Given the description of an element on the screen output the (x, y) to click on. 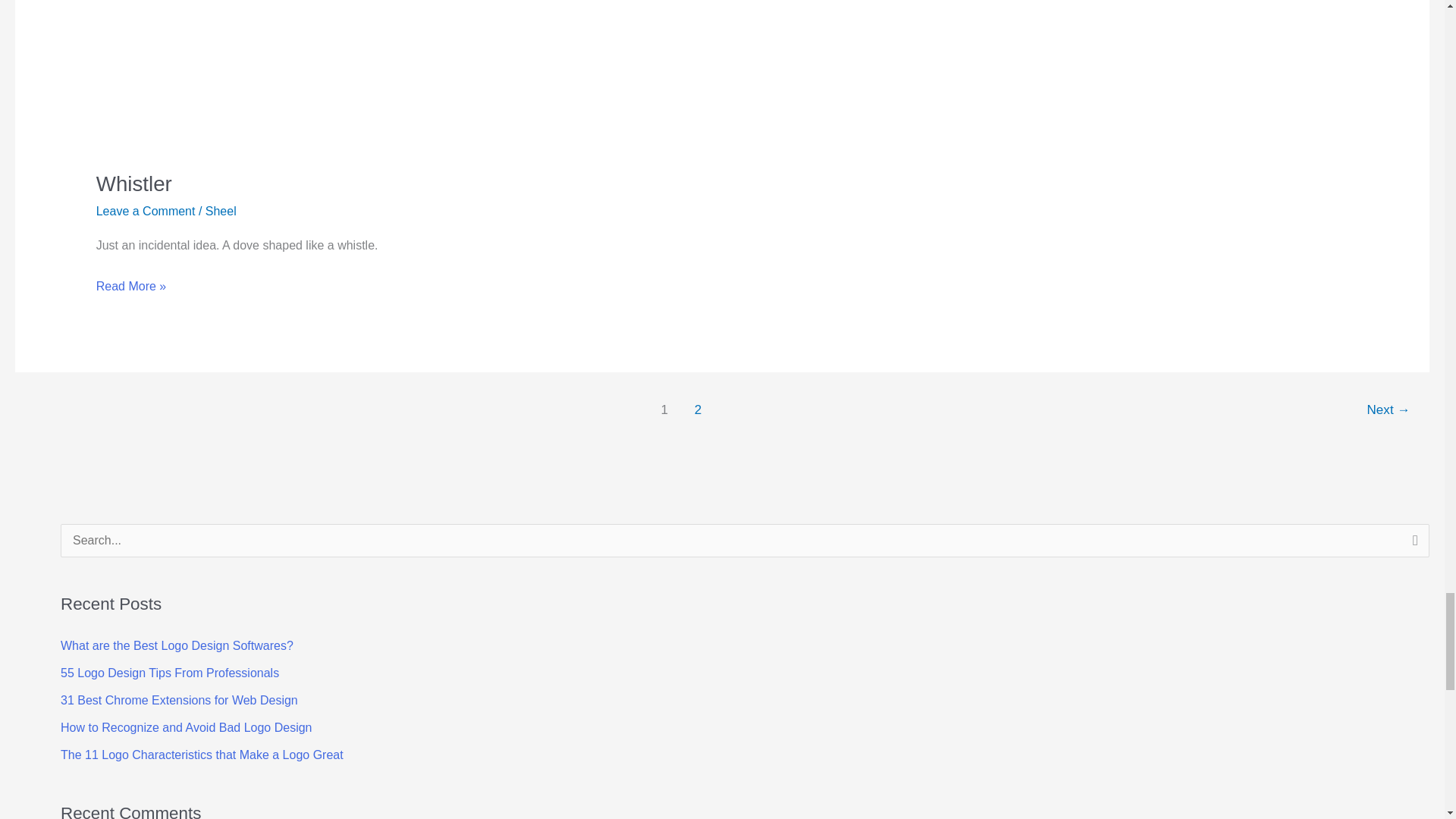
View all posts by Sheel (220, 210)
